Given the description of an element on the screen output the (x, y) to click on. 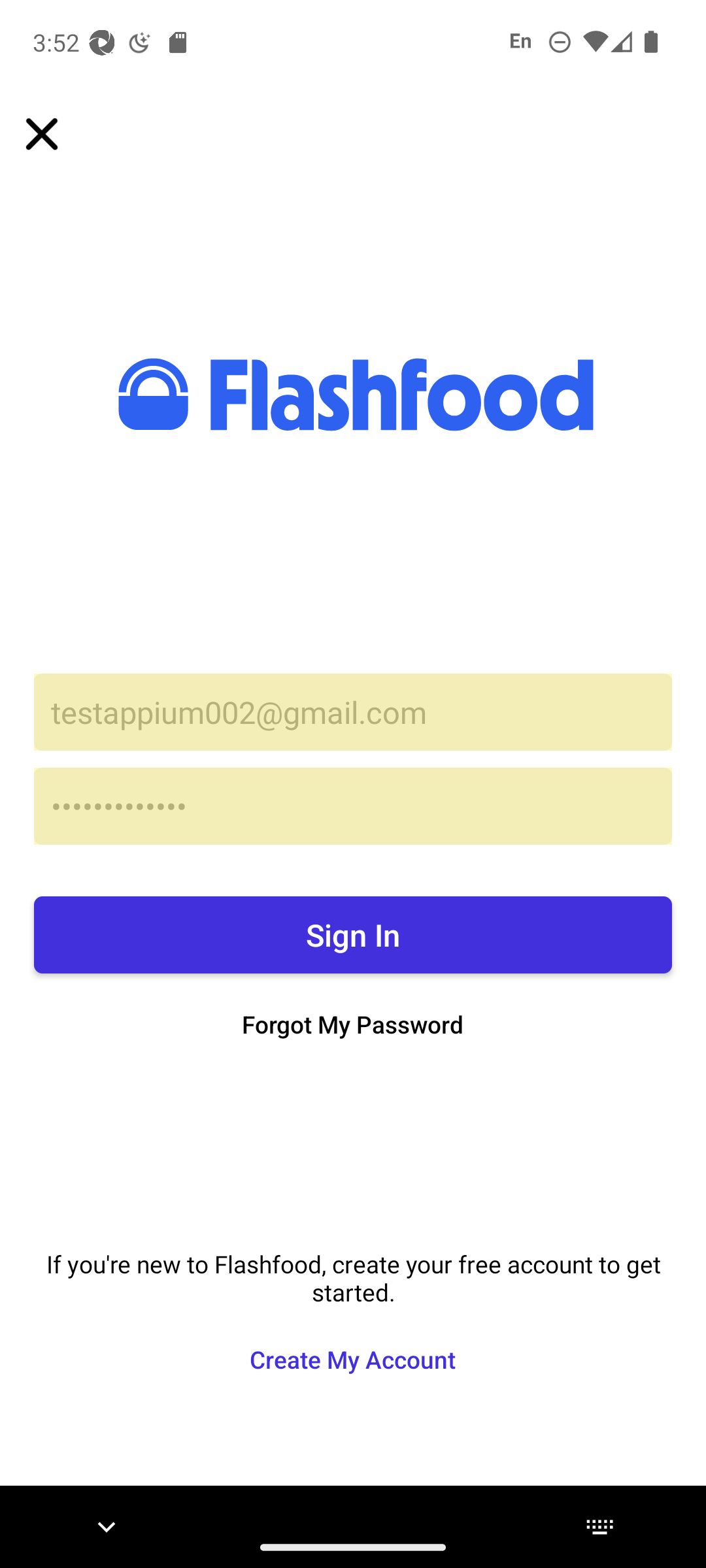
Close (57, 133)
testappium002@gmail.com (352, 712)
••••••••••••• (352, 806)
Sign In (352, 934)
Forgot My Password (352, 1024)
Create My Account (352, 1358)
